Given the description of an element on the screen output the (x, y) to click on. 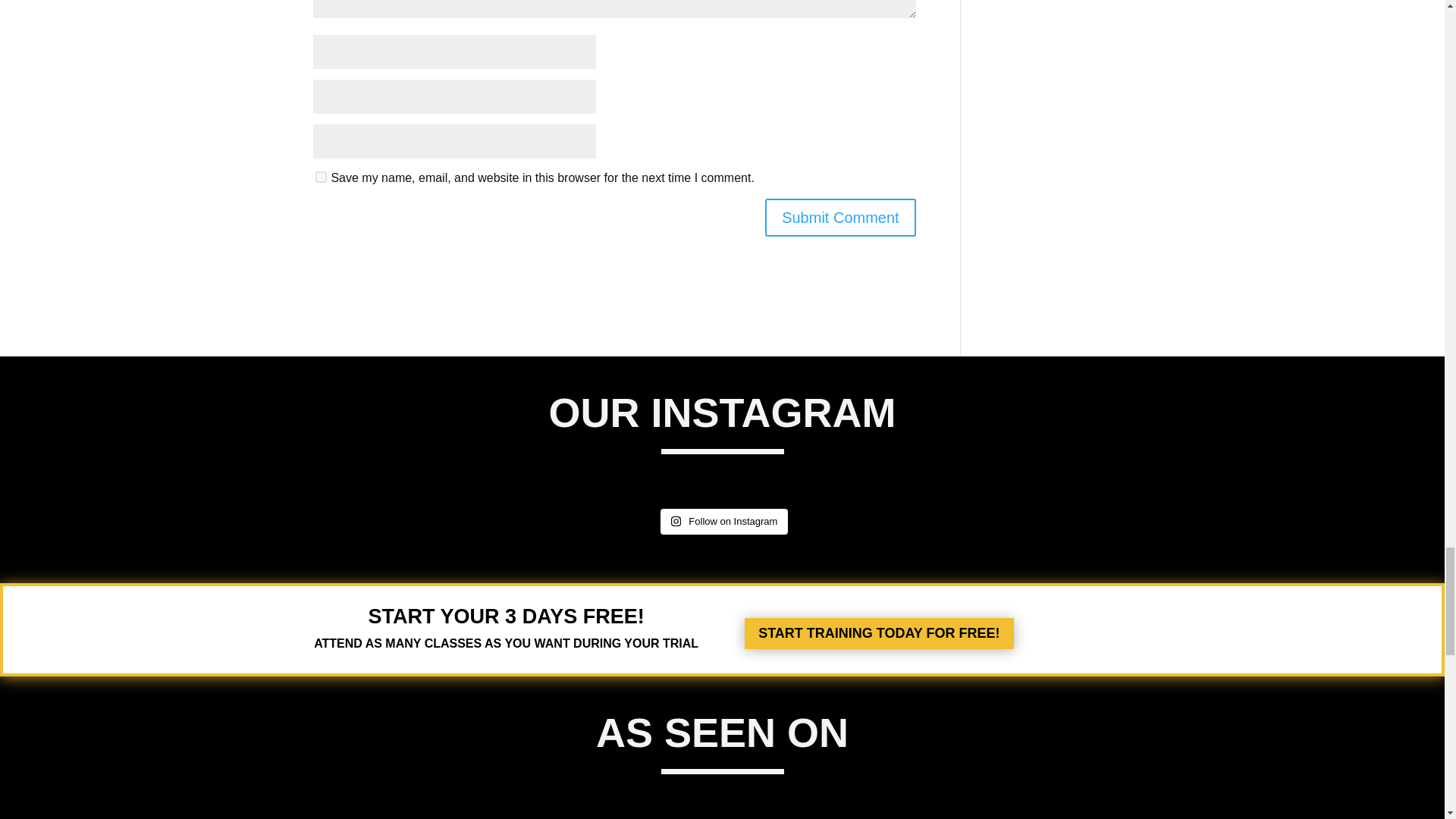
yes (319, 176)
Submit Comment (840, 217)
